Given the description of an element on the screen output the (x, y) to click on. 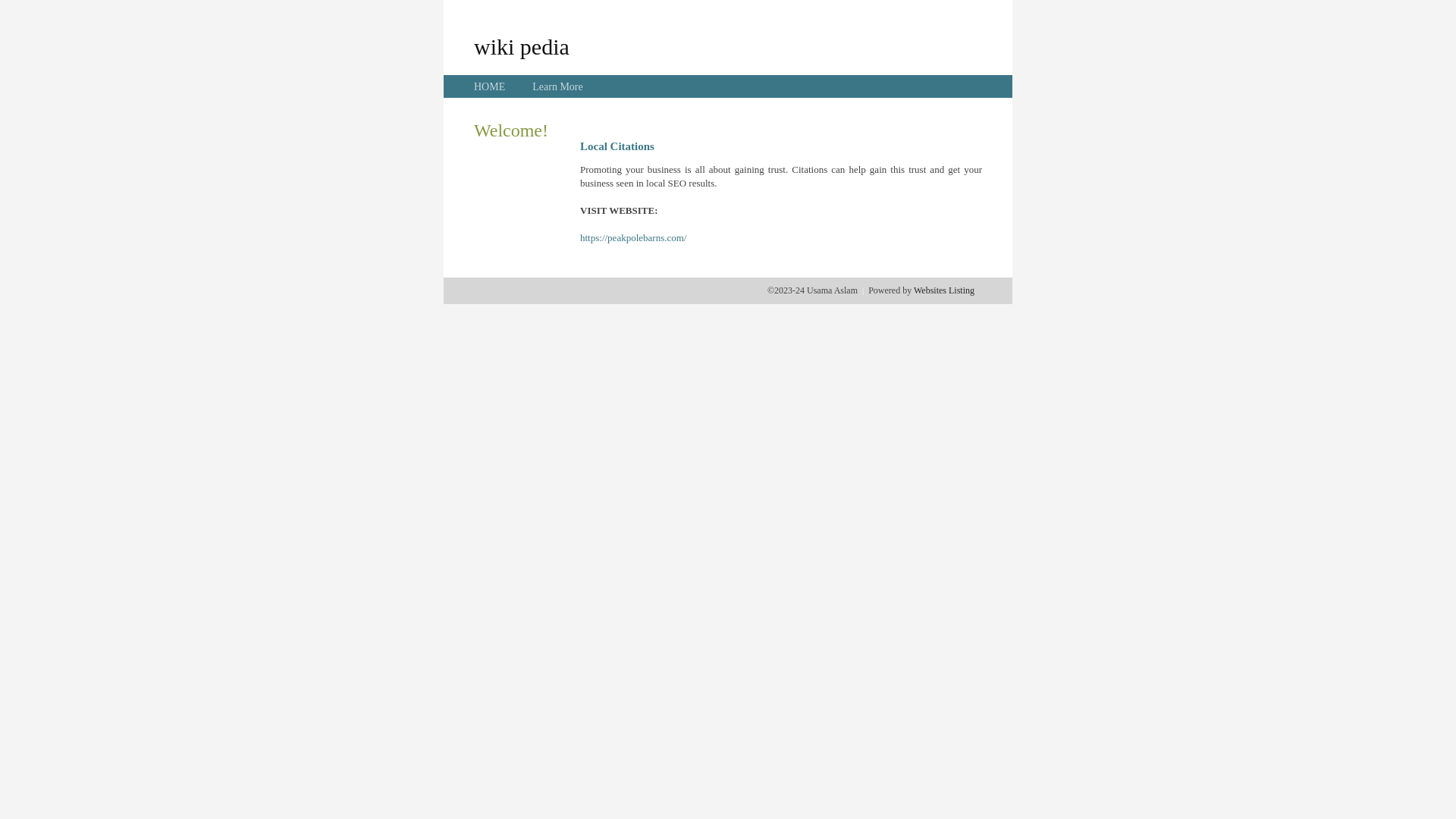
Websites Listing Element type: text (943, 290)
Learn More Element type: text (557, 86)
HOME Element type: text (489, 86)
https://peakpolebarns.com/ Element type: text (633, 237)
wiki pedia Element type: text (521, 46)
